Given the description of an element on the screen output the (x, y) to click on. 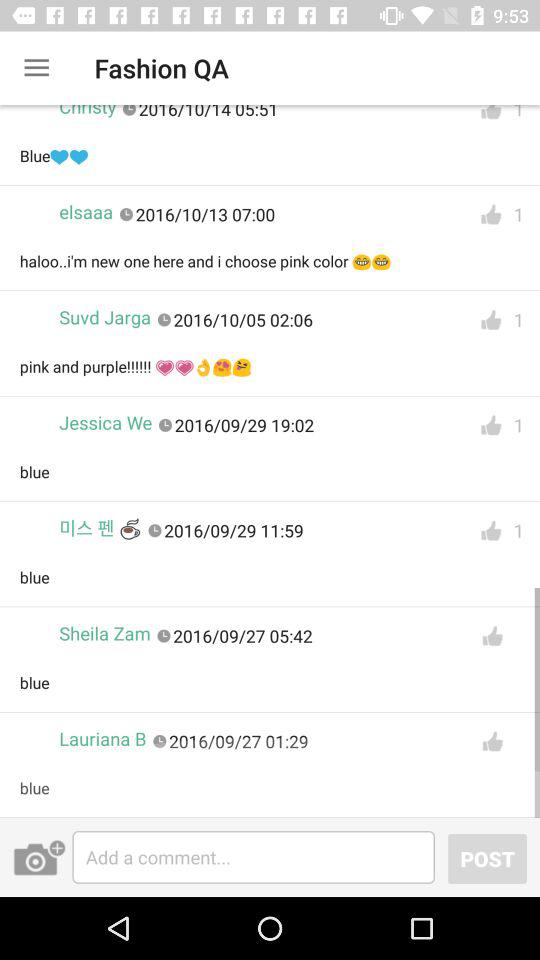
tap suvd jarga item (105, 317)
